Given the description of an element on the screen output the (x, y) to click on. 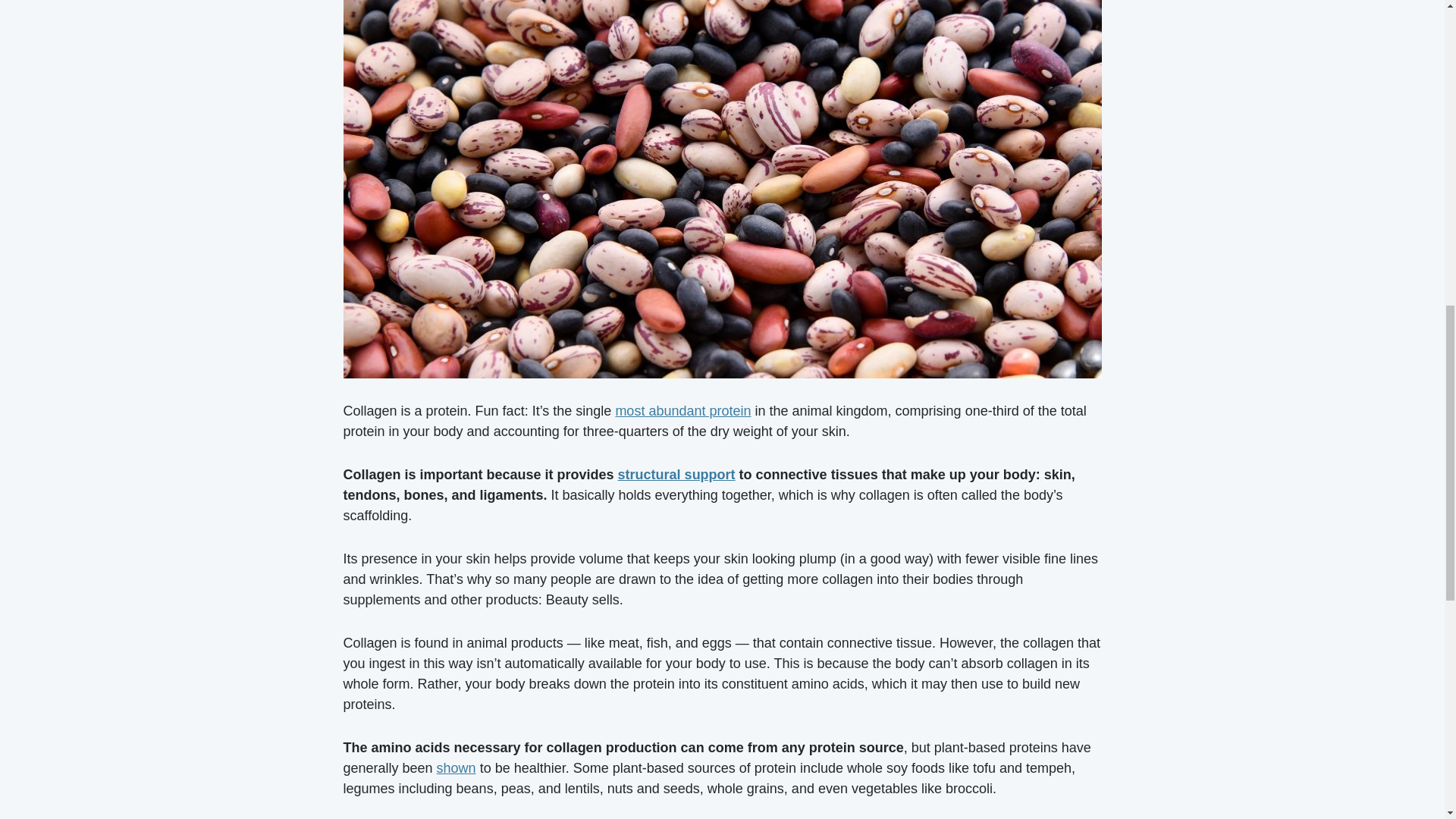
most abundant protein (682, 410)
structural support (676, 474)
shown (456, 767)
